Given the description of an element on the screen output the (x, y) to click on. 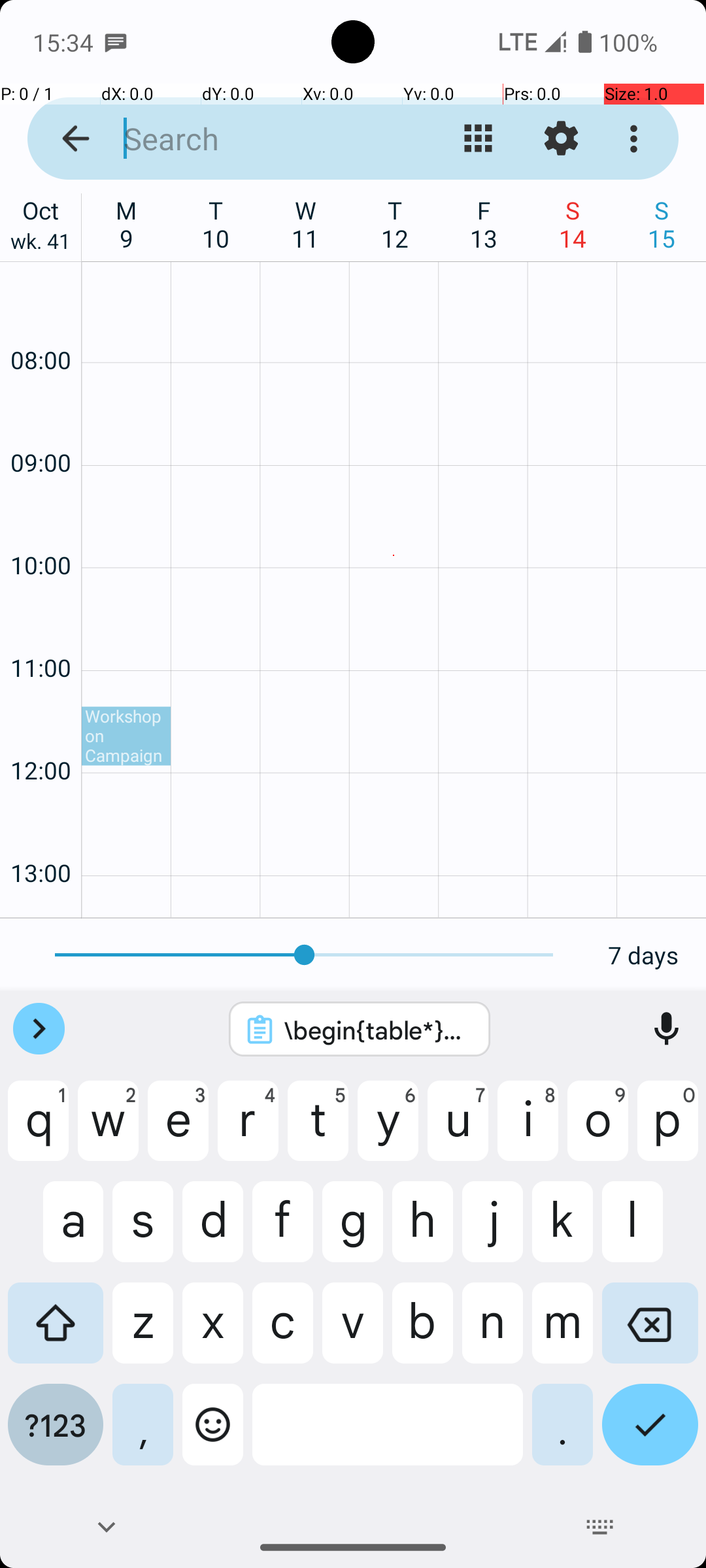
\begin{table*}[t!] \centering \renewcommand\arraystretch{1.1} \tabcolsep=0.05cm {\fontsize{10pt}{12pt}\selectfont \begin{tabular}{cccccccccc} \hline % \toprule          \multirow{2}{*}{LVLMs} & \multirow{2}{*}{\parbox{1.5cm}{\centering Model\\Size}}   & \multirow{2}{*}{\parbox{1.5cm}{\centering GUI\\Specific}} & \multicolumn{2}{c}{Mobile}        & \multicolumn{2}{c}{Desktop}       & \multicolumn{2}{c}{Web}           & \multirow{2}{*}{Average} \\ \cline{4-9}          &    &                               & Text            & Icon/Widget     & Text            & Icon/Widget     & Text            & Icon/Widget     &                          \\  % \midrule \hline MiniGPT-v2     & 7B   & \textcolor{darkred}{\ding{55}}                              &  8.4\%               & 6.6\%                & 6.2\%                & 2.9\%                & 6.5\%                & 3.4\%                & 5.7\%                         \\ Qwen-VL  & 9.6B   & \textcolor{darkred}{\ding{55}}                             & 9.5\%           & 4.8\%           & 5.7\%           & 5.0\%           & 3.5\%           & 2.4\%           & 5.2\%                    \\  GPT-4V   & -    & \textcolor{darkred}{\ding{55}}     & 22.6\%    & 24.5\%    & 20.2\%    & 11.8\%    &9.2\%  & 8.8\%     & 16.2\% \\ \hline Fuyu     & 8B   & \textcolor{darkgreen}{\ding{51}}                               & 41.0\%          & 1.3\%           & 33.0\%          & 3.6\%           & 33.9\%          & 4.4\%           & 19.5\%                   \\ CogAgent & 18B   & \textcolor{darkgreen}{\ding{51}}                               & 67.0\%          & 24.0\%          & \textbf{74.2\%} & 20.0\%          & \textbf{70.4\%} & 28.6\% & 47.4\%                   \\ \seek & 9.6B   & \textcolor{darkgreen}{\ding{51}}                              & \textbf{78.0\%} & \textbf{52.0\%} & 72.2\%          & \textbf{30.0\%} & 55.7\%          & \textbf{32.5\%} & \textbf{53.4\%}          \\  \hline % \bottomrule \end{tabular} } \caption{Results of different LVLMs on \seesp. The best results in each column are highlighted in \textbf{bold}. Benefiting from efficient GUI grounding pre-training, \seek significantly enhanced LVLMs' ability to locate GUI elements following instructions, and surpassed the strong baseline CogAgent with a smaller model size.} \label{tab:screenspot} \vspace{-1.0em} \end{table*} Element type: android.widget.TextView (376, 1029)
